Given the description of an element on the screen output the (x, y) to click on. 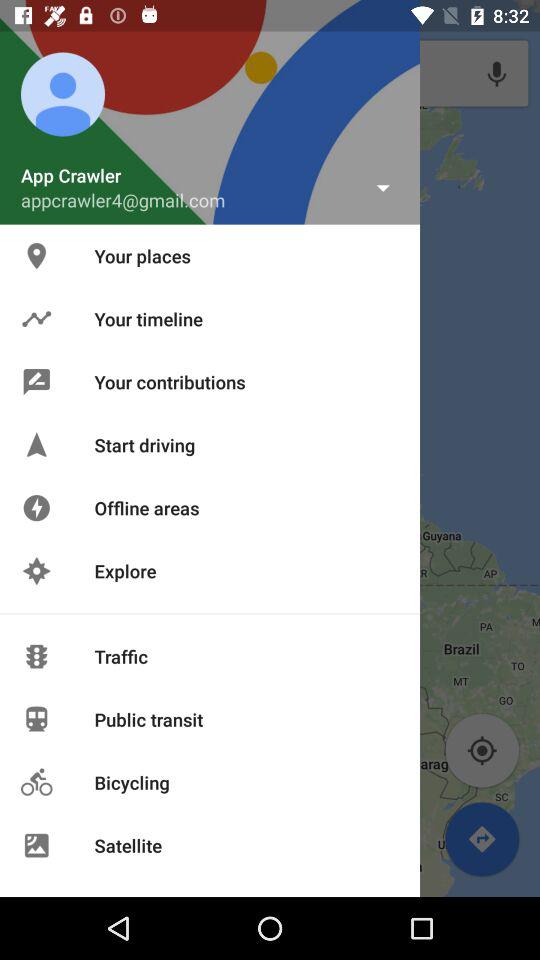
click on the direction icon (481, 838)
click on voice search symbol (496, 73)
select current location icon (481, 750)
go gps (481, 750)
